Given the description of an element on the screen output the (x, y) to click on. 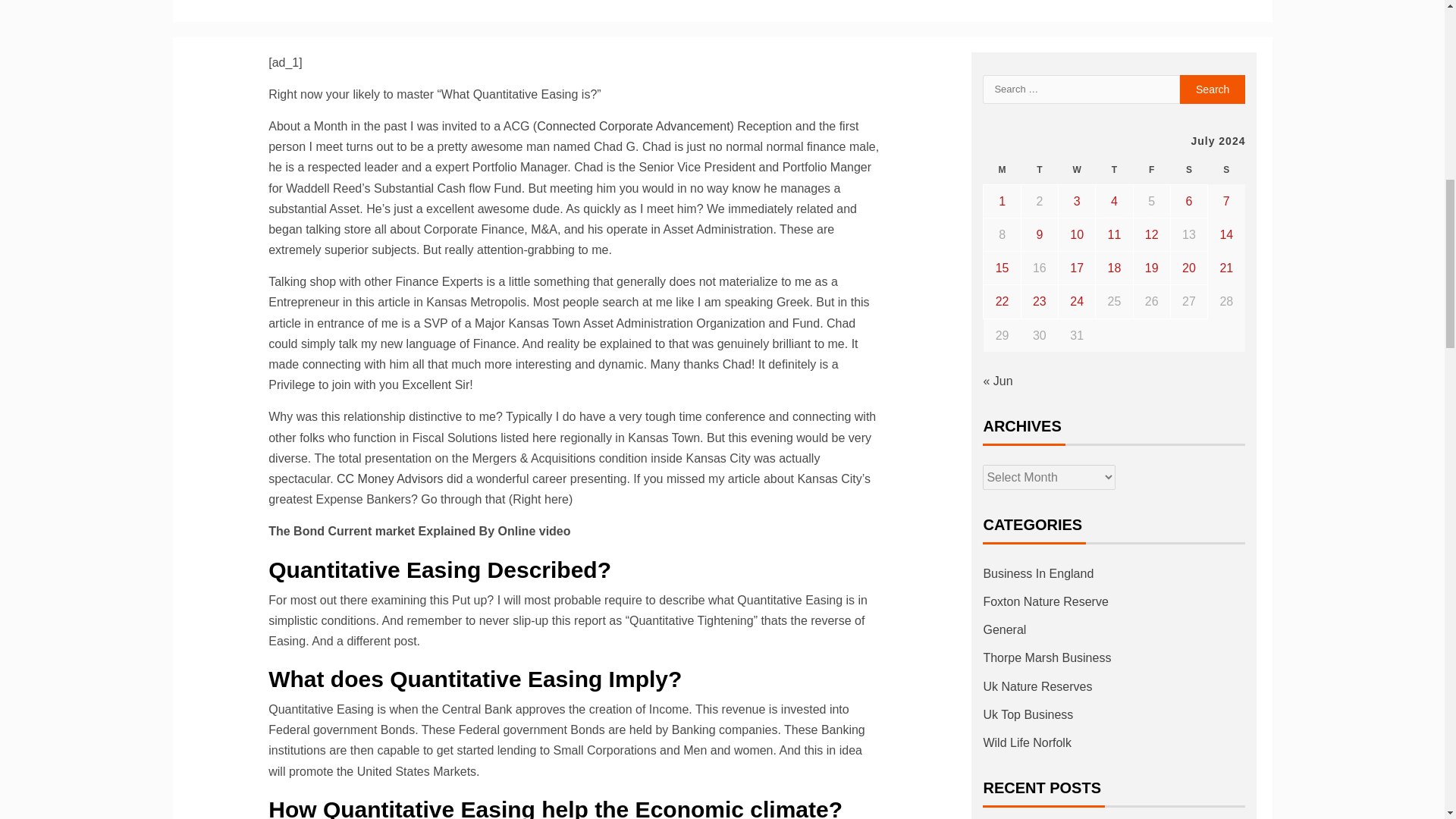
Connected Corporate Advancement (633, 125)
Search (1212, 89)
Thursday (1114, 170)
Monday (1002, 170)
CC Money Advisors (390, 478)
Friday (1151, 170)
Search (1212, 89)
Tuesday (1039, 170)
Wednesday (1077, 170)
